Given the description of an element on the screen output the (x, y) to click on. 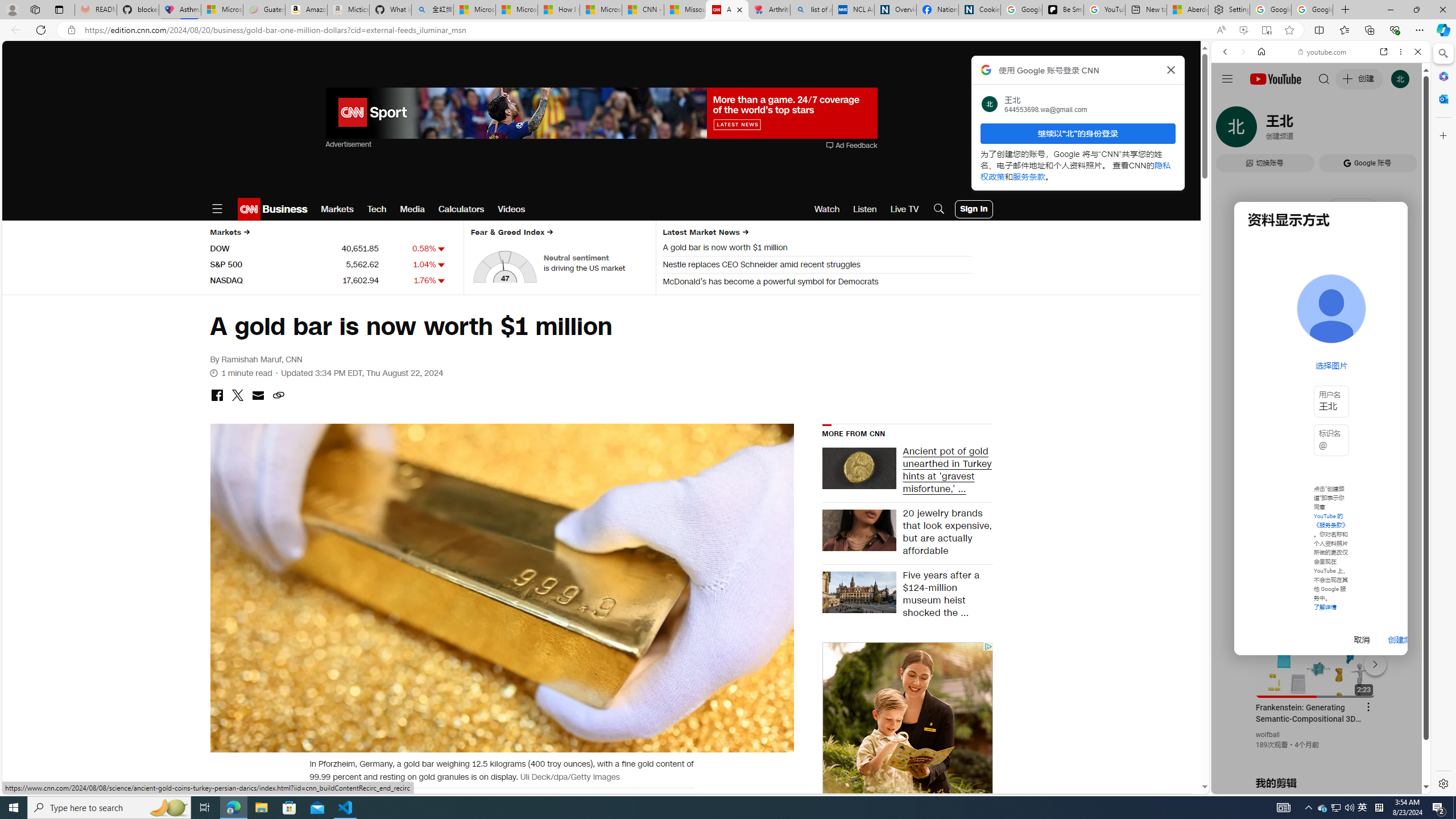
Class: icon-social-facebook (216, 395)
Class: icon-social-twitter (237, 395)
Neutral sentiment is driving the US market (596, 263)
youtube.com (1322, 51)
